Given the description of an element on the screen output the (x, y) to click on. 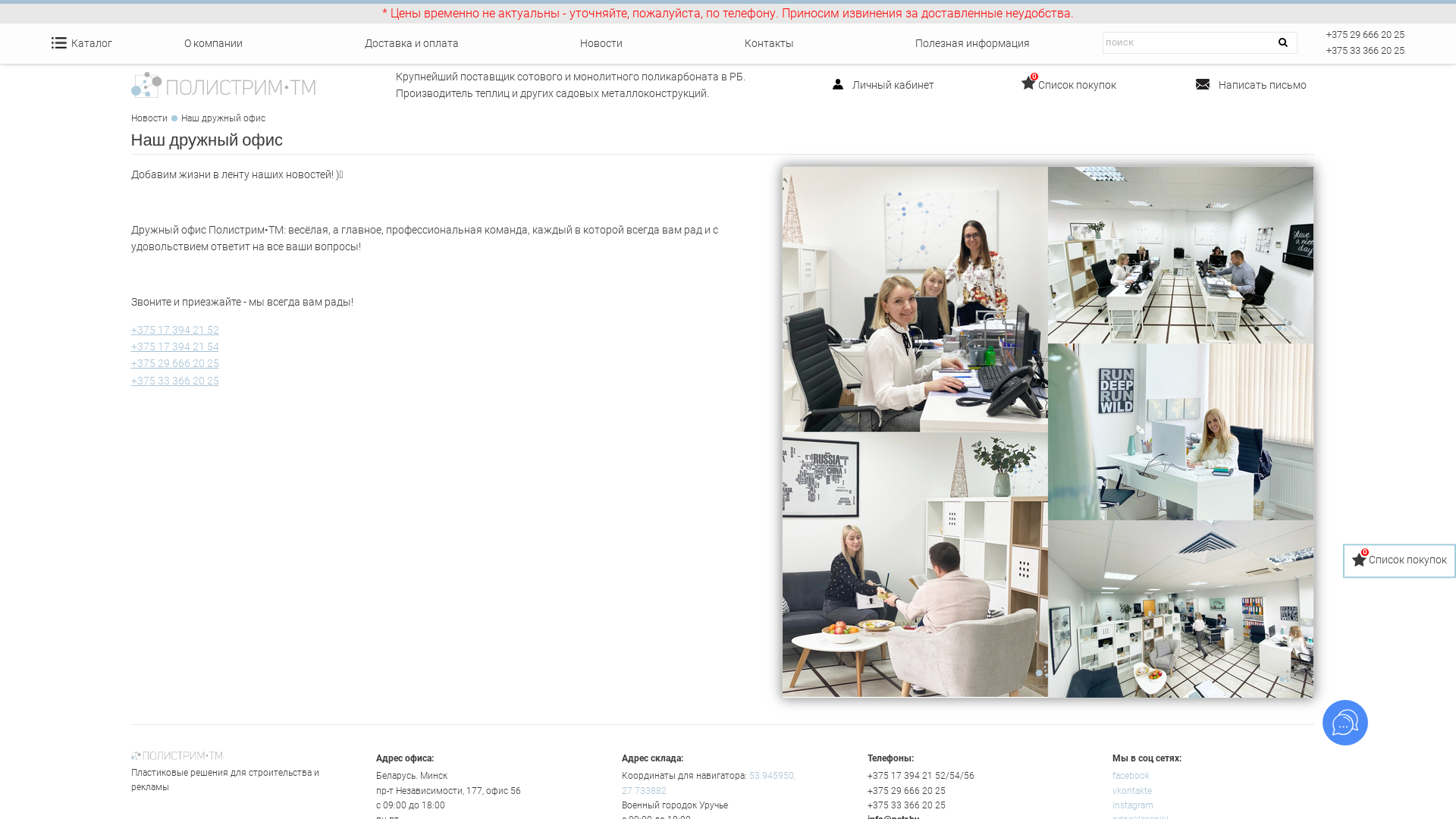
instagram Element type: text (1132, 805)
+375 29 666 20 25 Element type: text (906, 790)
+375 33 366 20 25 Element type: text (906, 805)
facebook Element type: text (1130, 775)
53.945950, 27.733882 Element type: text (708, 782)
+375 29 666 20 25 Element type: text (1365, 34)
+375 33 366 20 25 Element type: text (1365, 50)
+375 29 666 20 25 Element type: text (174, 363)
+375 17 394 21 54 Element type: text (174, 346)
+375 17 394 21 52 Element type: text (174, 329)
+375 33 366 20 25 Element type: text (174, 380)
vkontakte Element type: text (1131, 790)
